Given the description of an element on the screen output the (x, y) to click on. 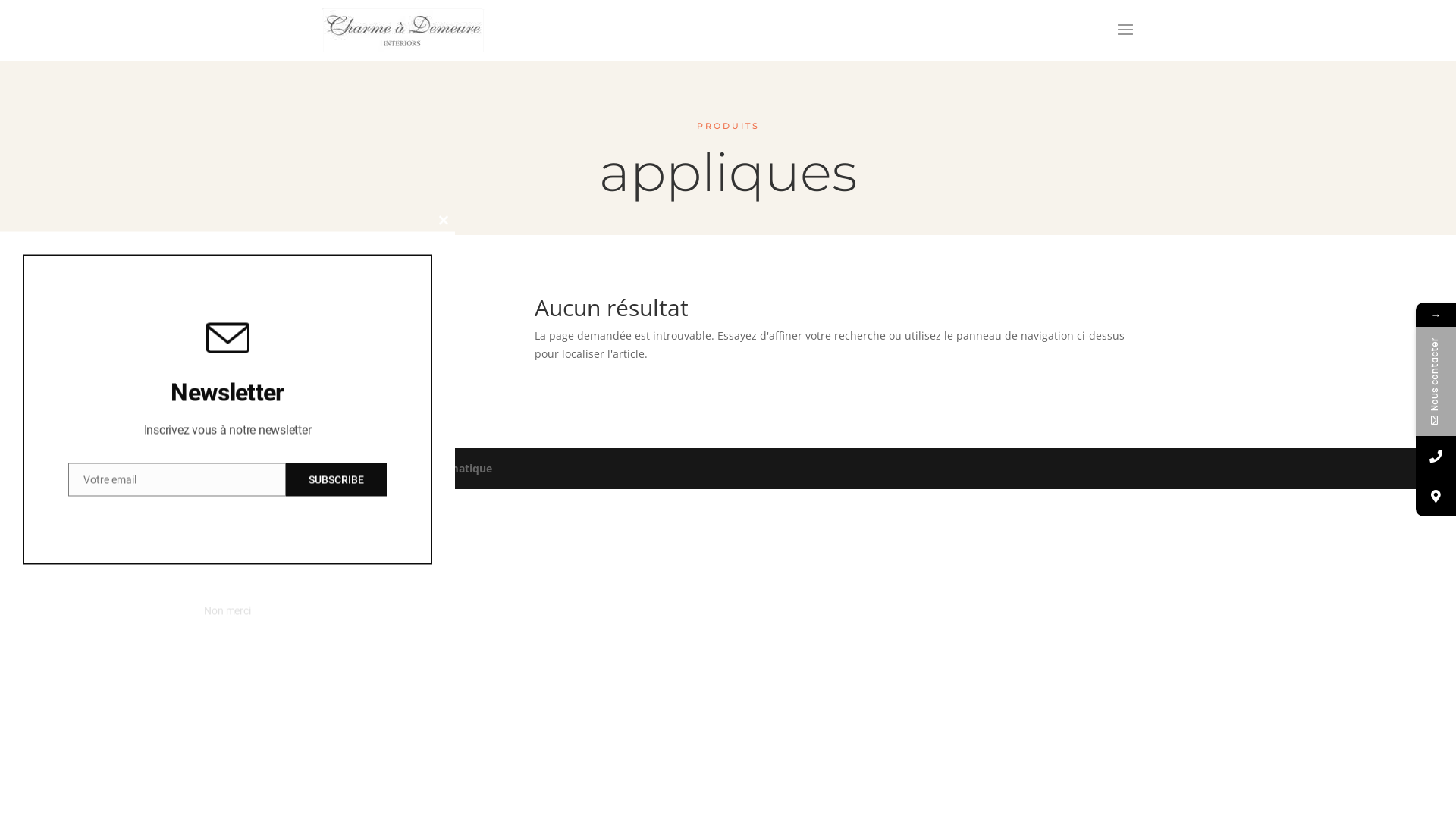
SUBSCRIBE Element type: text (335, 478)
Non merci Element type: text (226, 611)
ACS Informatique Element type: text (445, 468)
Close this module Element type: text (443, 220)
